Given the description of an element on the screen output the (x, y) to click on. 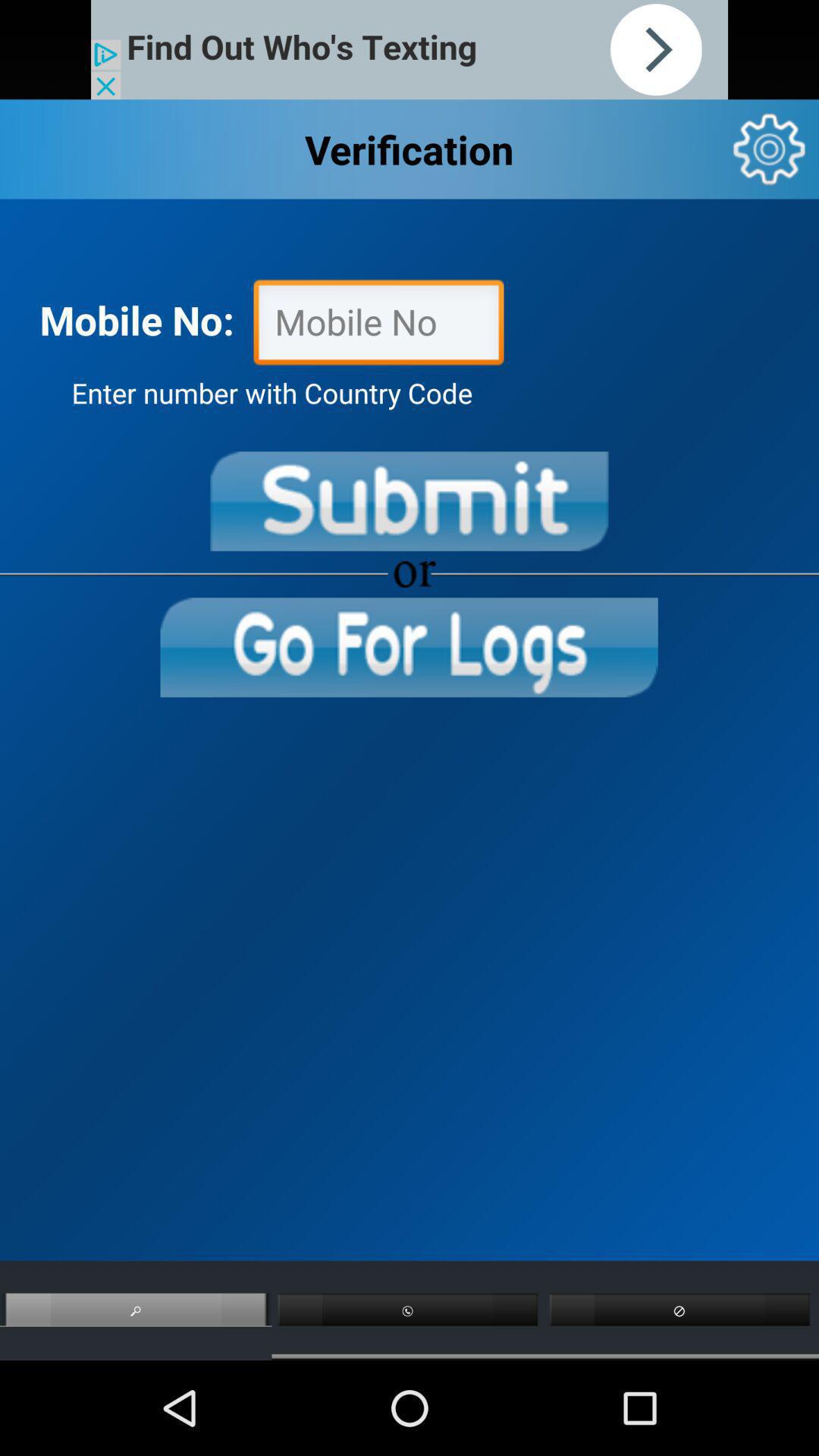
hide the mobile number (378, 326)
